Given the description of an element on the screen output the (x, y) to click on. 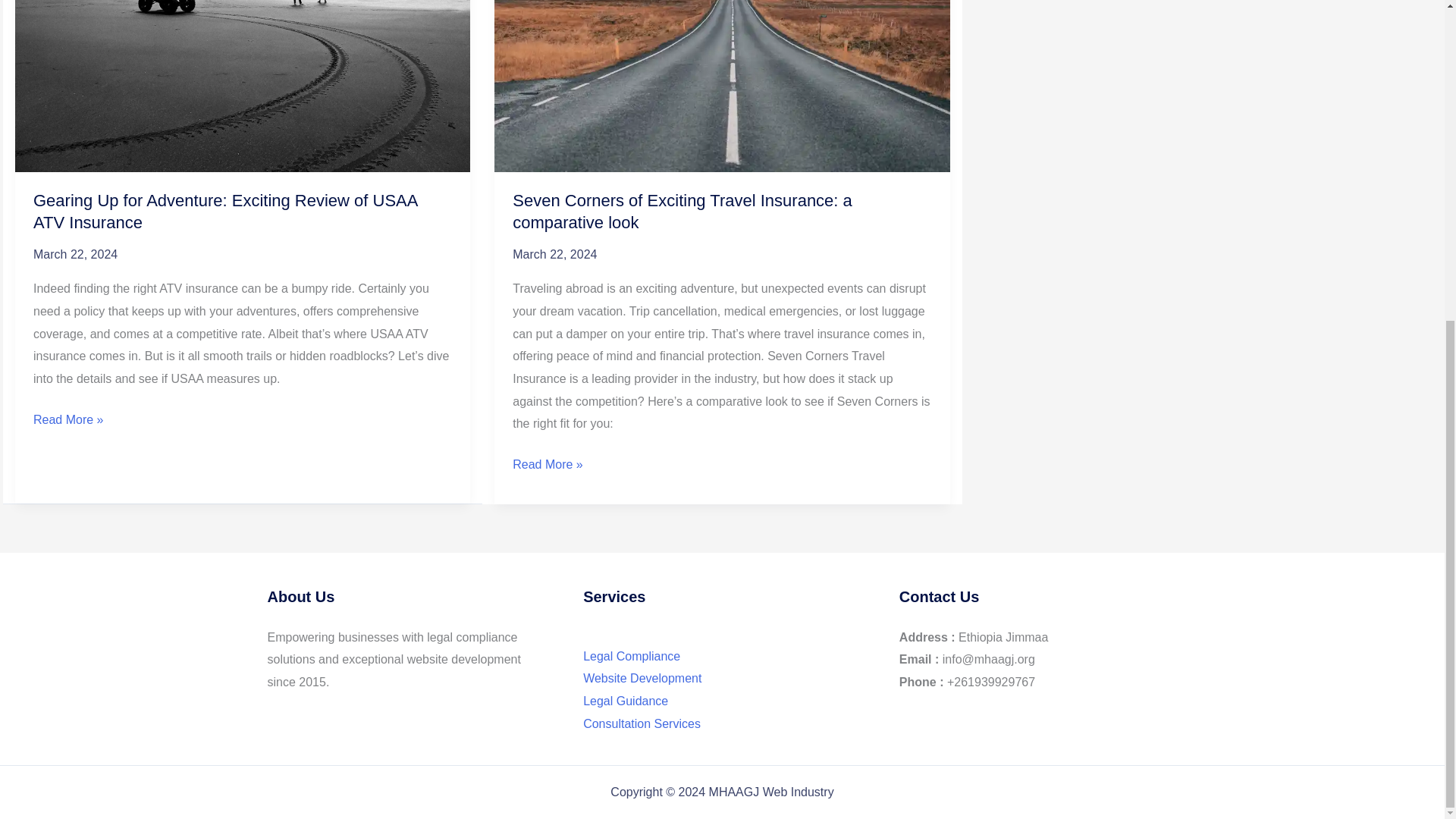
Legal Compliance (631, 656)
Consultation Services (641, 723)
Website Development (642, 677)
Legal Guidance (625, 700)
